Given the description of an element on the screen output the (x, y) to click on. 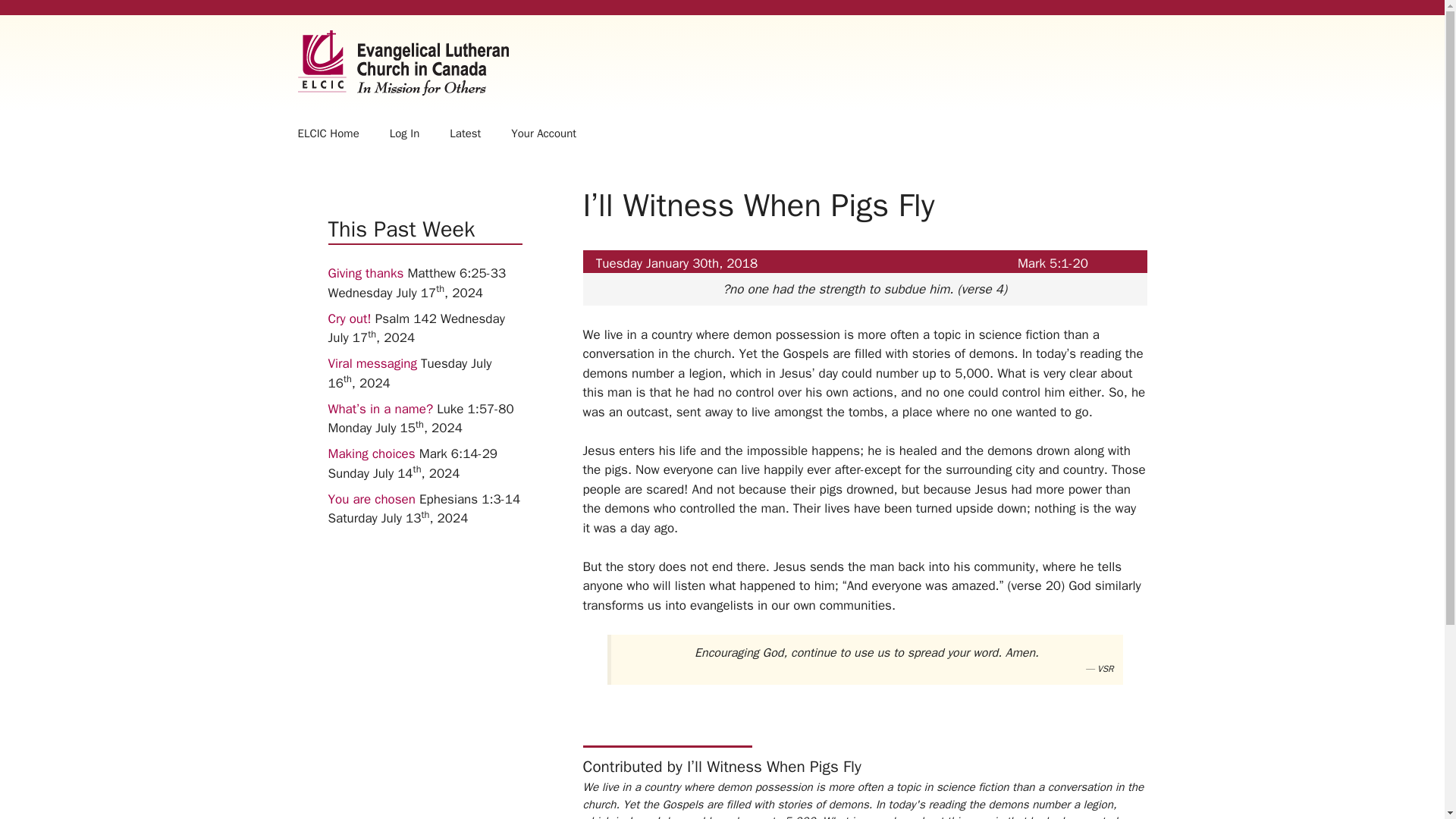
Latest (464, 133)
Log In (404, 133)
Cry out! (349, 318)
Viral messaging (371, 363)
ELCIC Home (328, 133)
Giving thanks (365, 273)
Your Account (543, 133)
Making choices (370, 453)
You are chosen (370, 498)
